Given the description of an element on the screen output the (x, y) to click on. 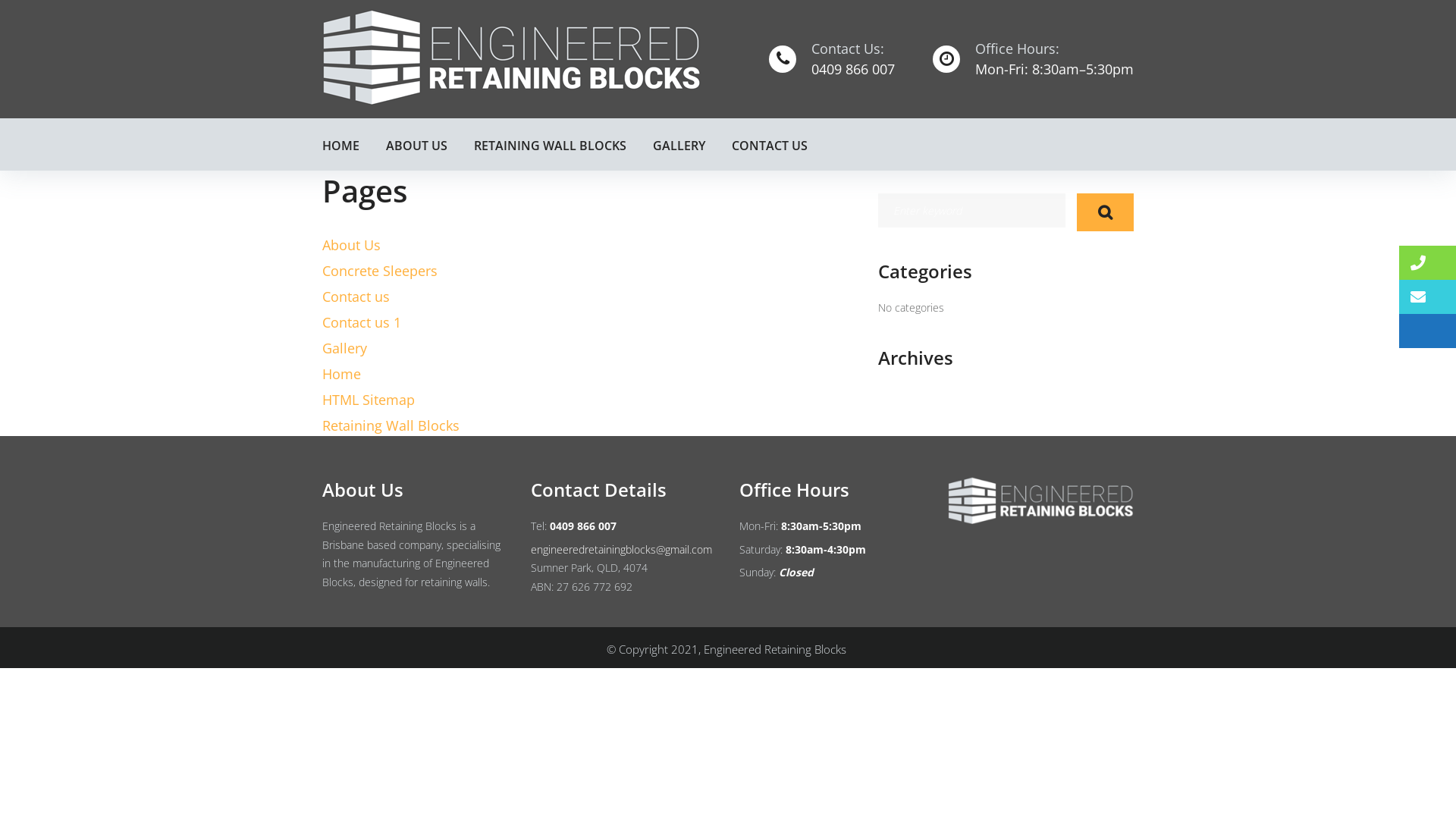
CONTACT US Element type: text (769, 144)
engineeredretainingblocks@gmail.com Element type: text (621, 549)
About Us Element type: text (351, 244)
Contact us 1 Element type: text (361, 322)
Concrete Sleepers Element type: text (379, 270)
HOME Element type: text (340, 144)
GALLERY Element type: text (678, 144)
HTML Sitemap Element type: text (368, 399)
Home Element type: text (341, 373)
RETAINING WALL BLOCKS Element type: text (549, 144)
0409 866 007 Element type: text (852, 68)
Gallery Element type: text (344, 347)
Search for: Element type: hover (971, 210)
Contact us Element type: text (355, 296)
Skip to content Element type: text (0, 0)
Retaining Wall Blocks Element type: text (390, 425)
ABOUT US Element type: text (416, 144)
